Given the description of an element on the screen output the (x, y) to click on. 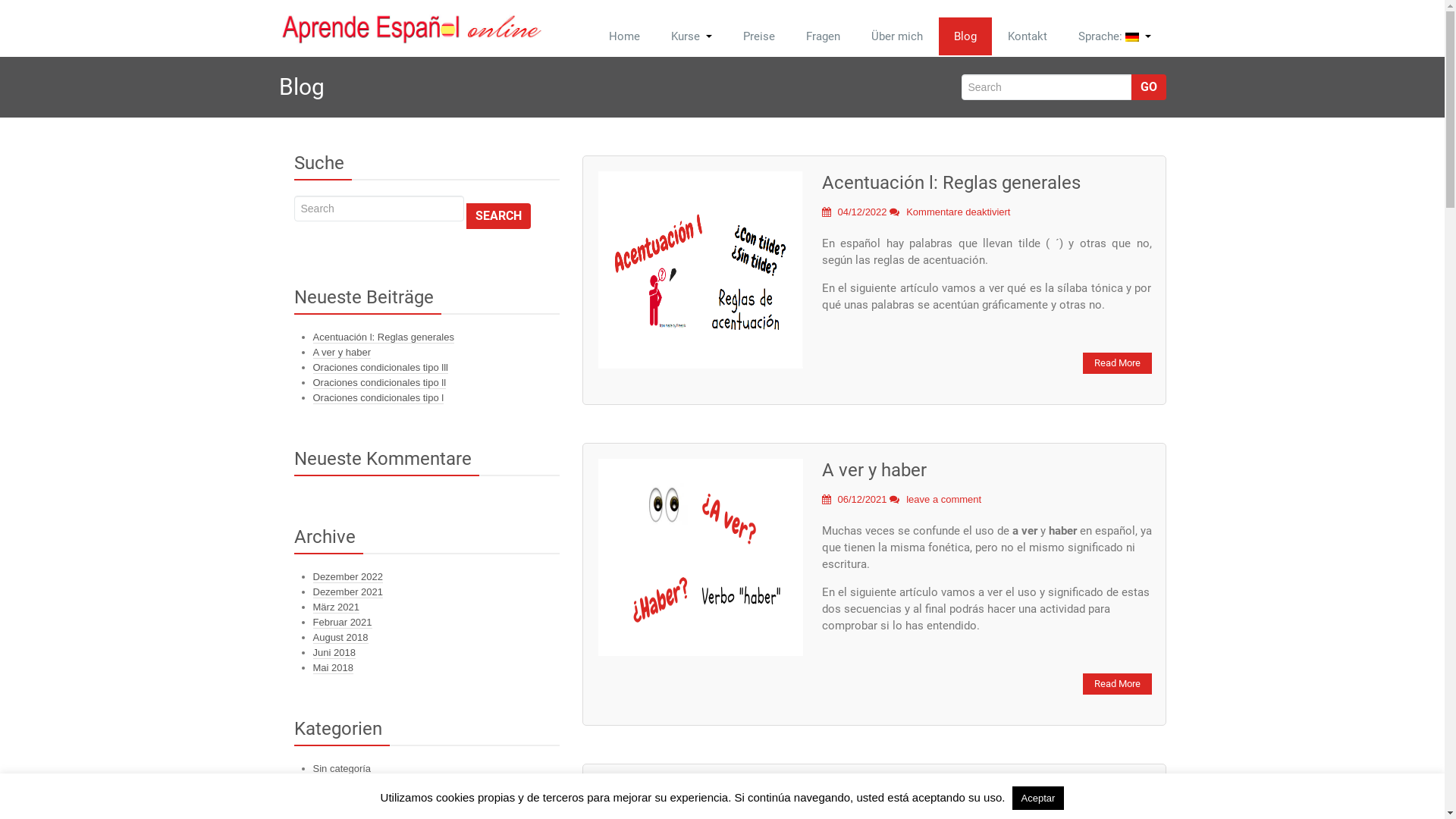
Blog Element type: text (964, 36)
Dezember 2022 Element type: text (347, 577)
Oraciones condicionales tipo lll Element type: text (379, 367)
A ver y haber Element type: text (874, 469)
Dezember 2021 Element type: text (347, 592)
06/12/2021 Element type: text (854, 499)
Oraciones condicionales tipo l Element type: text (377, 398)
leave a comment Element type: text (943, 499)
Read More Element type: text (1116, 683)
Kurse Element type: text (690, 36)
Uncategorized Element type: text (344, 784)
Oraciones condicionales tipo lll Element type: text (949, 790)
Kontakt Element type: text (1026, 36)
Preise Element type: text (759, 36)
August 2018 Element type: text (339, 637)
Oraciones condicionales tipo ll Element type: text (378, 382)
Search Element type: text (498, 216)
04/12/2022 Element type: text (854, 211)
A ver y haber Element type: text (341, 352)
Februar 2021 Element type: text (341, 622)
Read More Element type: text (1116, 362)
Sprache:  Element type: text (1114, 36)
Aceptar Element type: text (1038, 797)
Mai 2018 Element type: text (332, 668)
Juni 2018 Element type: text (333, 652)
Home Element type: text (623, 36)
Fragen Element type: text (822, 36)
GO Element type: text (1148, 87)
